Given the description of an element on the screen output the (x, y) to click on. 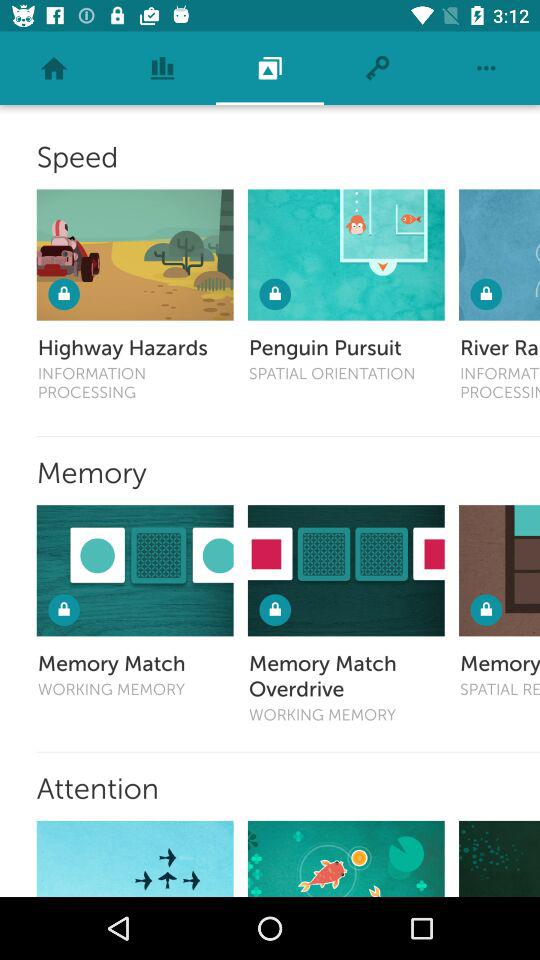
open story (134, 858)
